Given the description of an element on the screen output the (x, y) to click on. 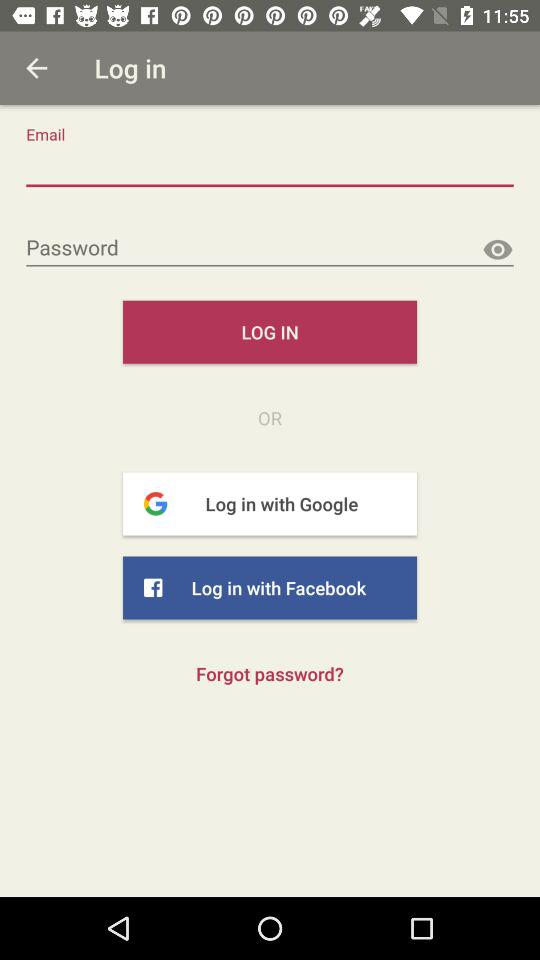
show password (498, 249)
